Given the description of an element on the screen output the (x, y) to click on. 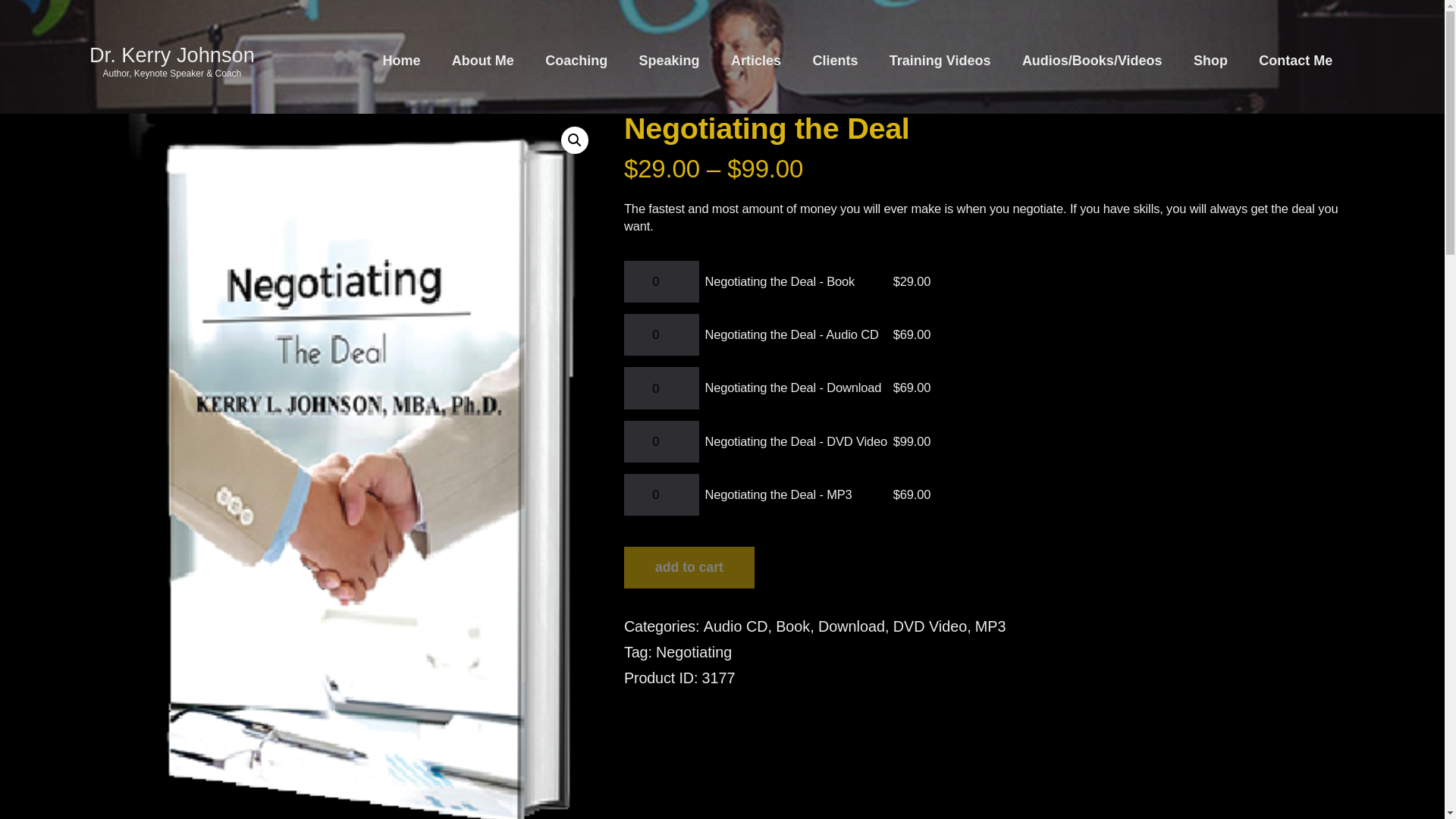
Qty (661, 441)
About Me (482, 61)
Coaching (576, 61)
Clients (834, 61)
Qty (661, 387)
Qty (661, 281)
Training Videos (939, 61)
Qty (661, 494)
Shop (1210, 61)
Articles (755, 61)
Home (400, 61)
Qty (661, 334)
Speaking (668, 61)
Contact Me (1295, 61)
